Given the description of an element on the screen output the (x, y) to click on. 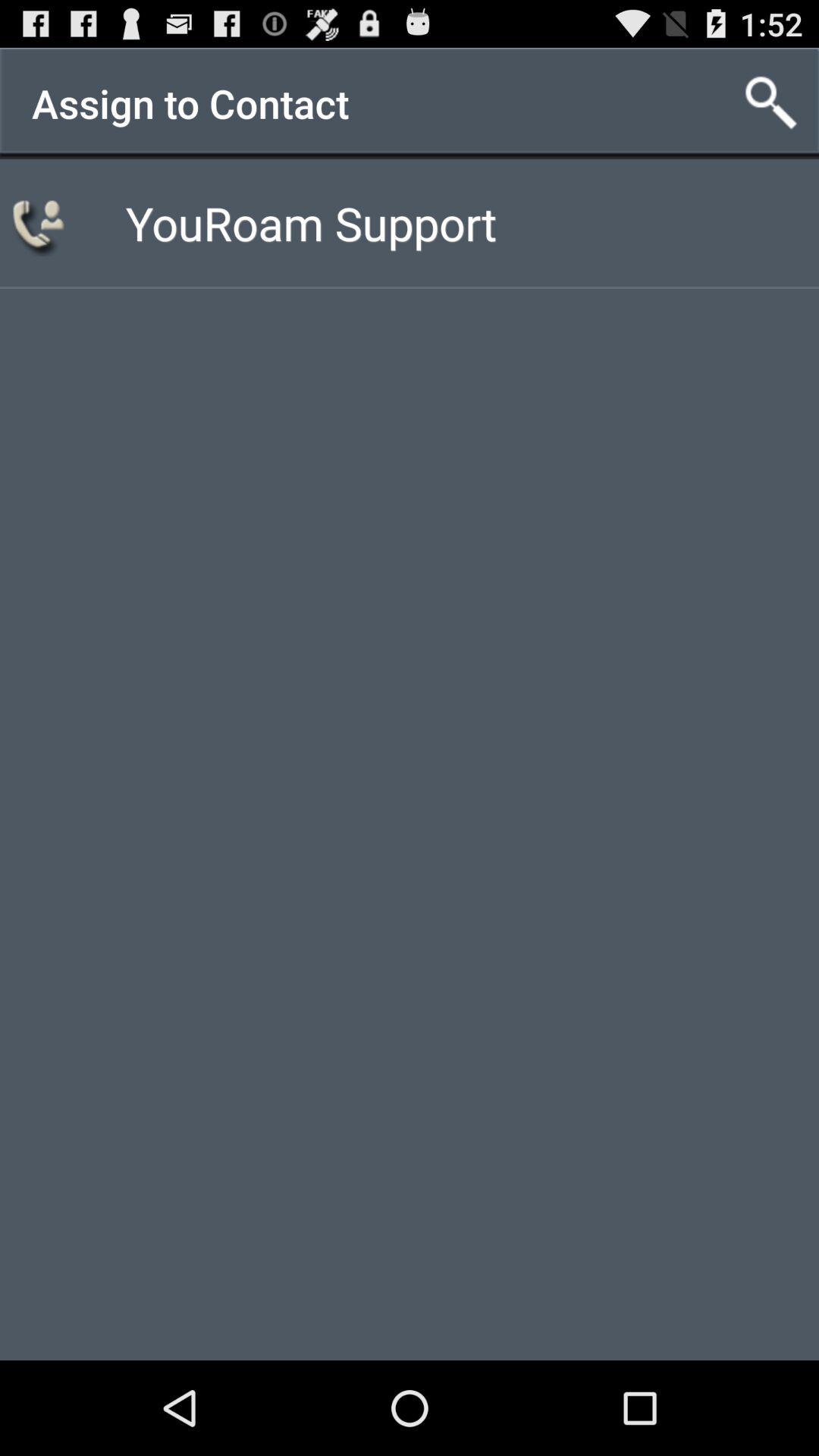
choose the item below assign to contact (40, 222)
